Given the description of an element on the screen output the (x, y) to click on. 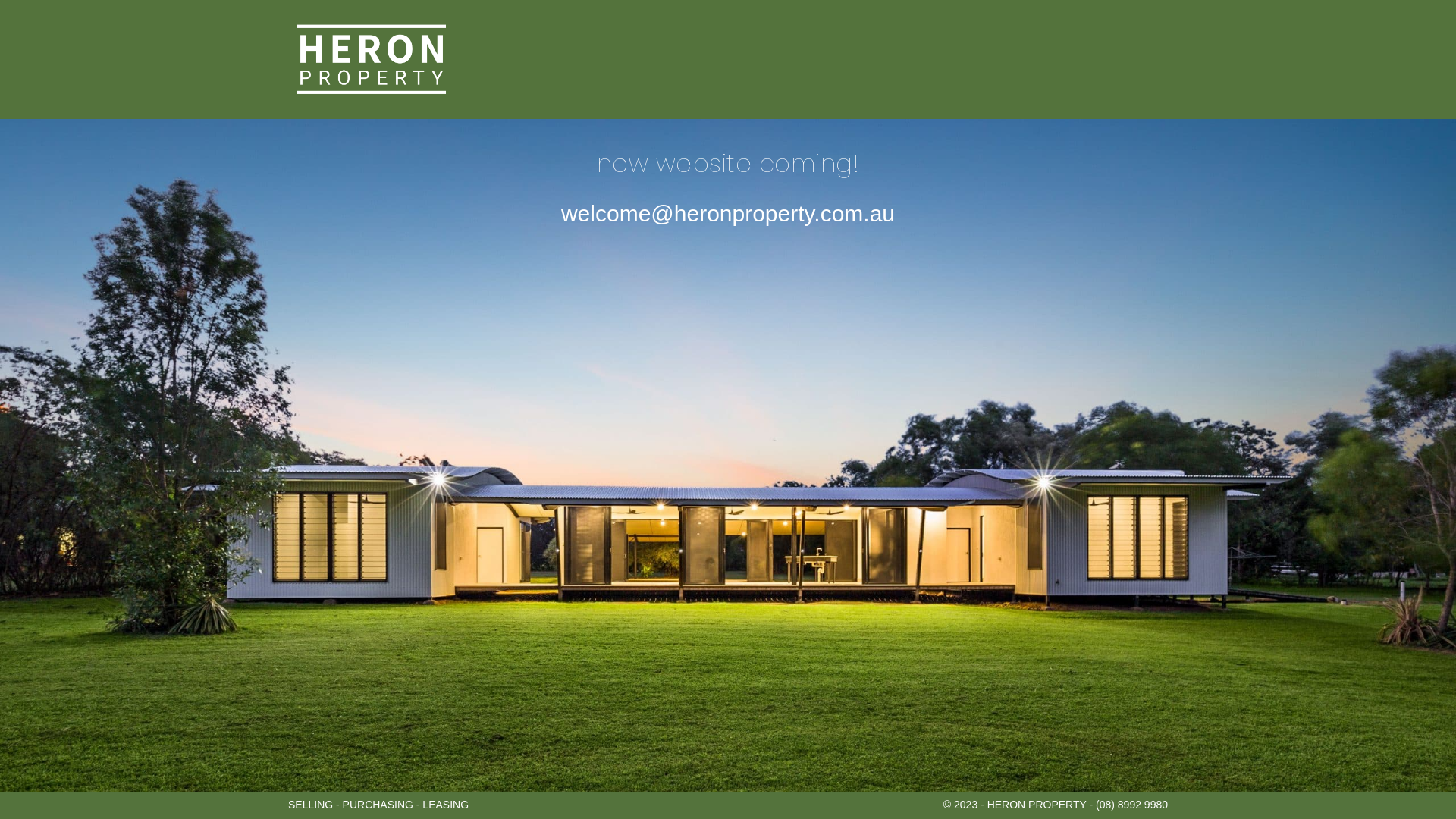
HERON PROPERTY Element type: hover (371, 59)
